Given the description of an element on the screen output the (x, y) to click on. 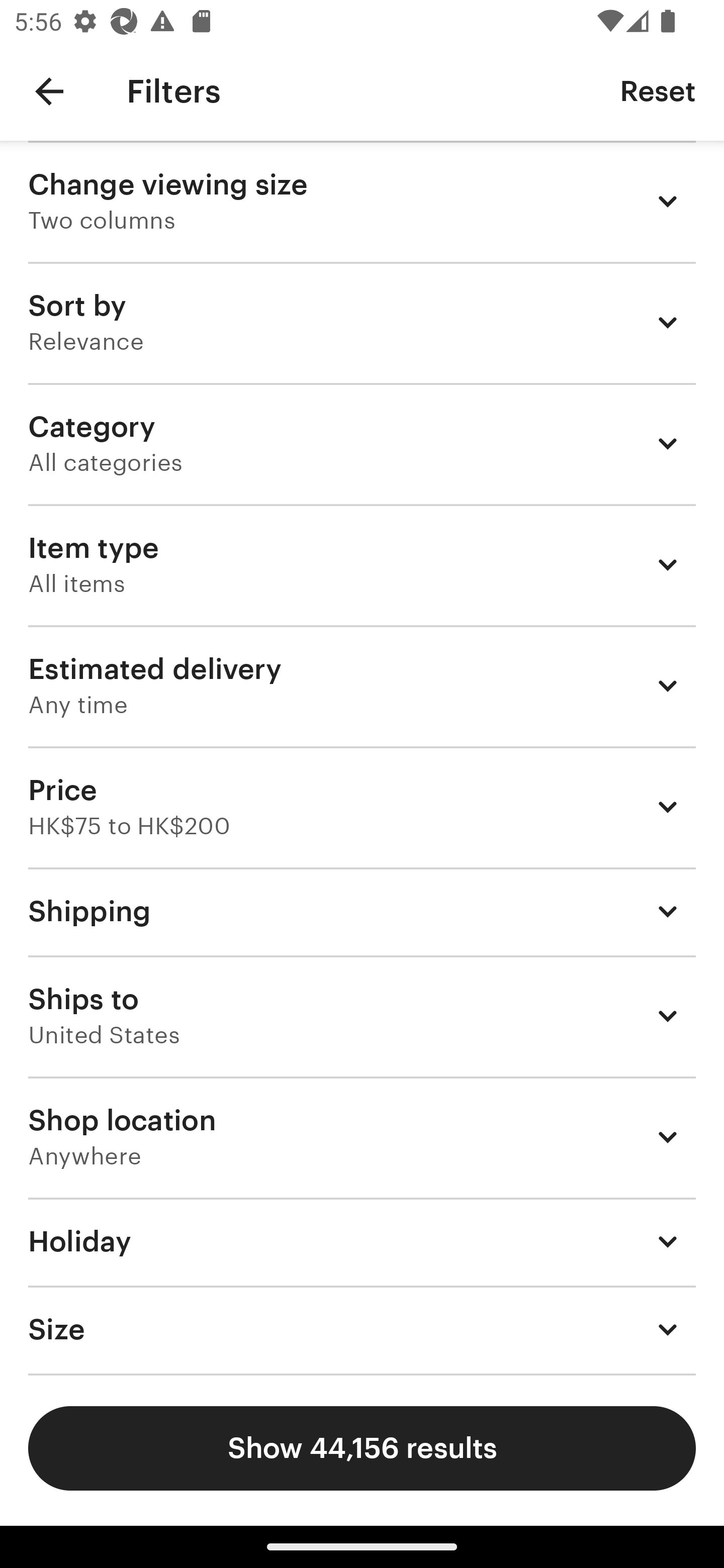
Navigate up (49, 91)
Reset (657, 90)
Change viewing size Two columns (362, 201)
Sort by Relevance (362, 321)
Category All categories (362, 442)
Item type All items (362, 564)
Estimated delivery Any time (362, 685)
Price HK$75 to HK$200 (362, 806)
Shipping (362, 910)
Ships to United States (362, 1015)
Shop location Anywhere (362, 1137)
Holiday (362, 1241)
Size (362, 1329)
Show 44,156 results Show results (361, 1448)
